Given the description of an element on the screen output the (x, y) to click on. 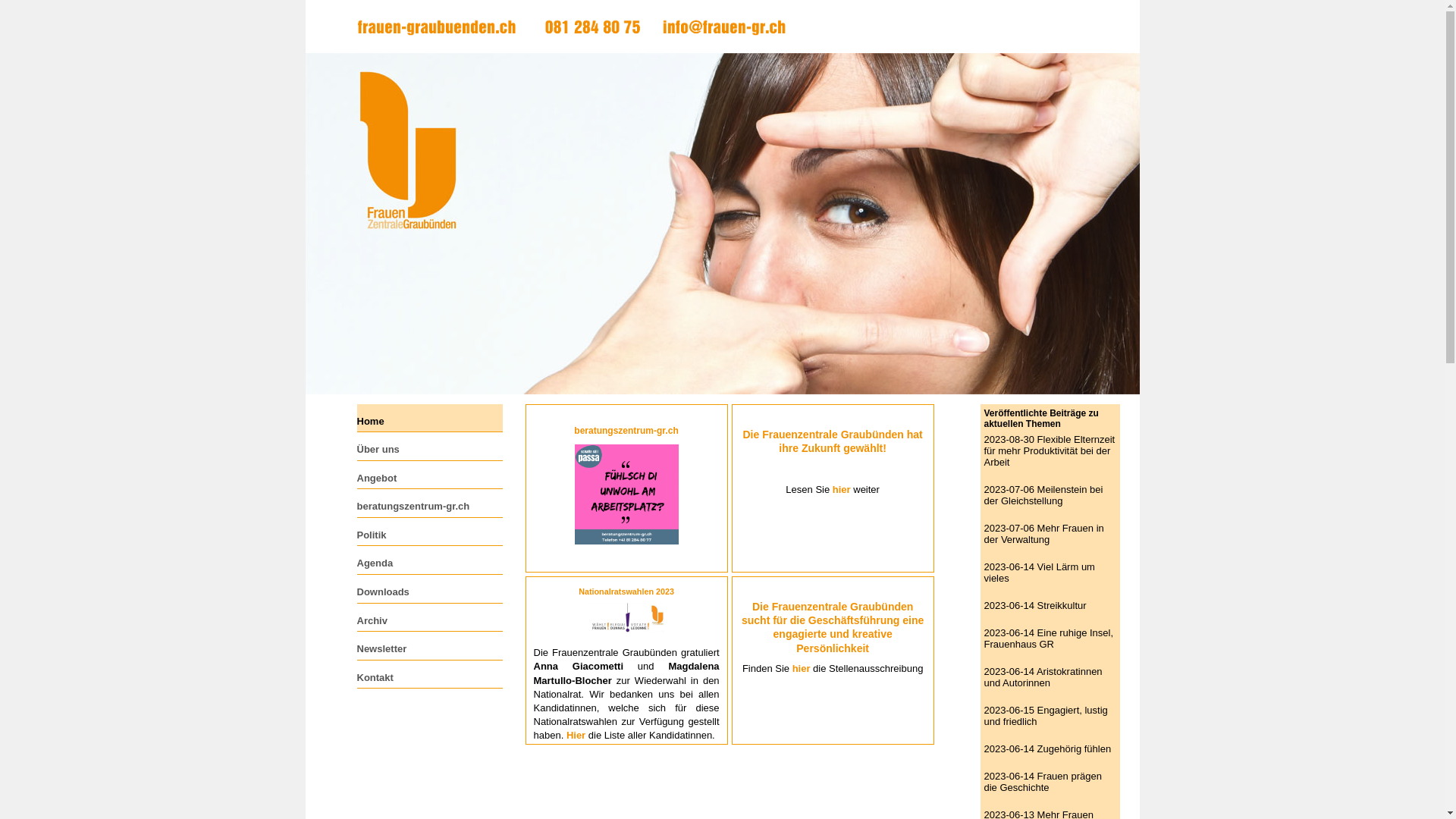
2023-06-14 Streikkultur Element type: text (1035, 605)
beratungszentrum-gr.ch Element type: text (431, 503)
Newsletter Element type: text (431, 645)
2023-07-06 Mehr Frauen in der Verwaltung Element type: text (1044, 533)
Archiv Element type: text (431, 617)
hier Element type: text (801, 668)
Hier Element type: text (575, 734)
2023-06-15 Engagiert, lustig und friedlich Element type: text (1045, 715)
2023-06-14 Eine ruhige Insel, Frauenhaus GR Element type: text (1048, 638)
Kontakt Element type: text (431, 674)
Angebot Element type: text (431, 475)
Downloads Element type: text (431, 588)
beratungszentrum-gr.ch Element type: text (625, 430)
2023-06-14 Aristokratinnen und Autorinnen Element type: text (1043, 676)
2023-07-06 Meilenstein bei der Gleichstellung Element type: text (1043, 494)
Politik Element type: text (431, 531)
hier Element type: text (841, 489)
Agenda Element type: text (431, 560)
